Given the description of an element on the screen output the (x, y) to click on. 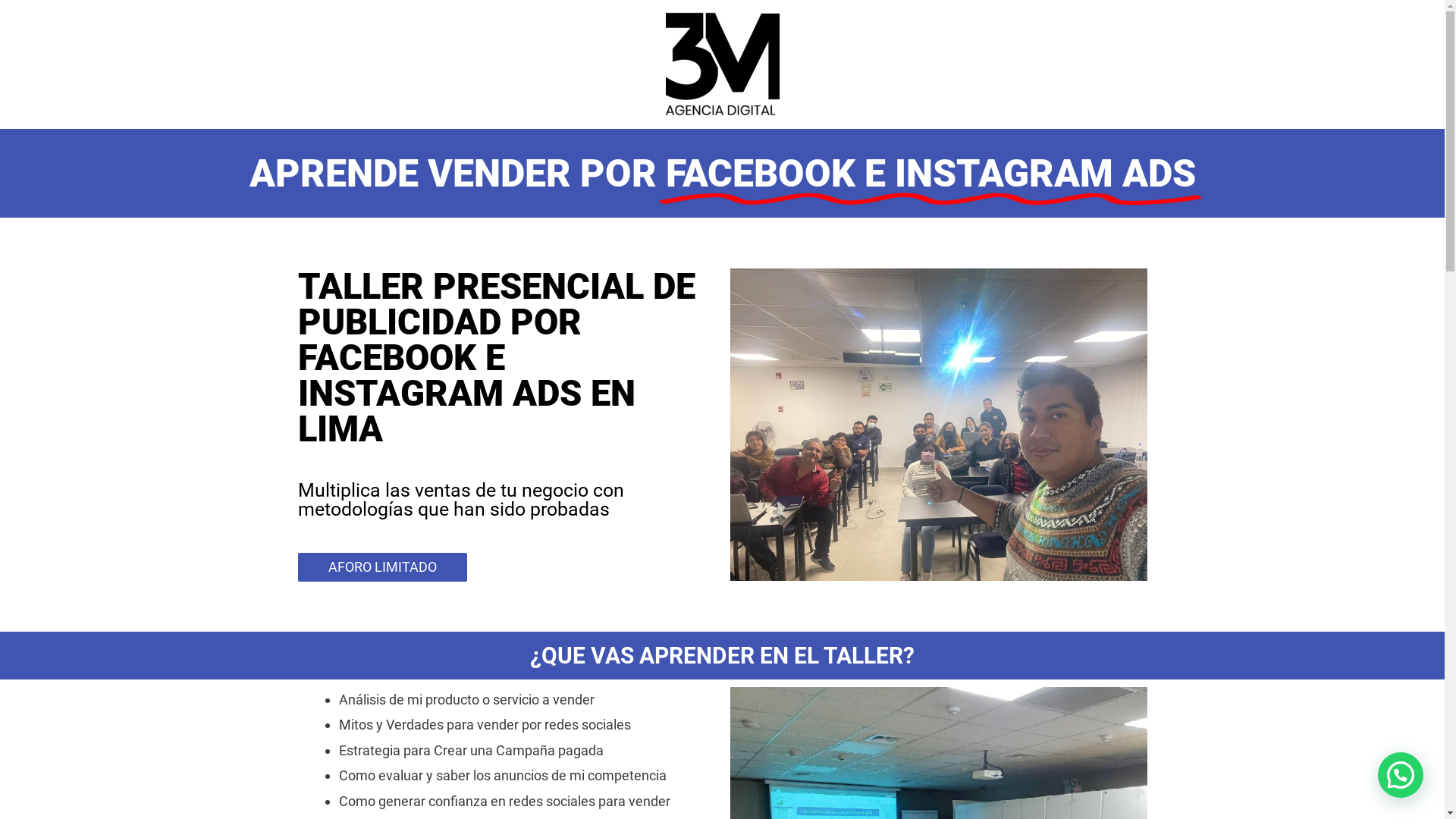
AFORO LIMITADO Element type: text (381, 566)
